Given the description of an element on the screen output the (x, y) to click on. 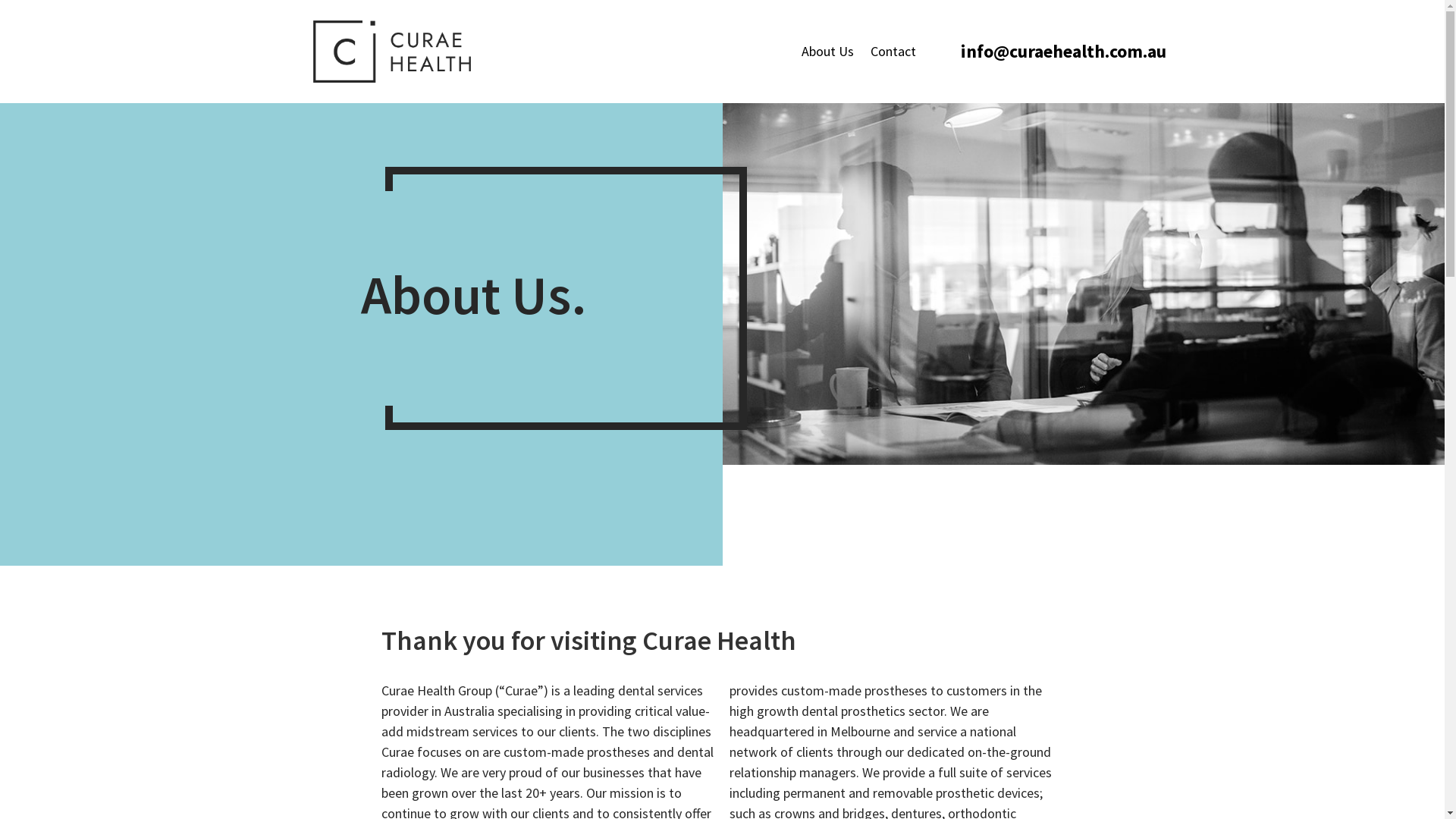
About Us Element type: text (827, 51)
Contact Element type: text (893, 51)
Curae Health Group Element type: hover (1082, 283)
info@curaehealth.com.au Element type: text (1063, 51)
